Given the description of an element on the screen output the (x, y) to click on. 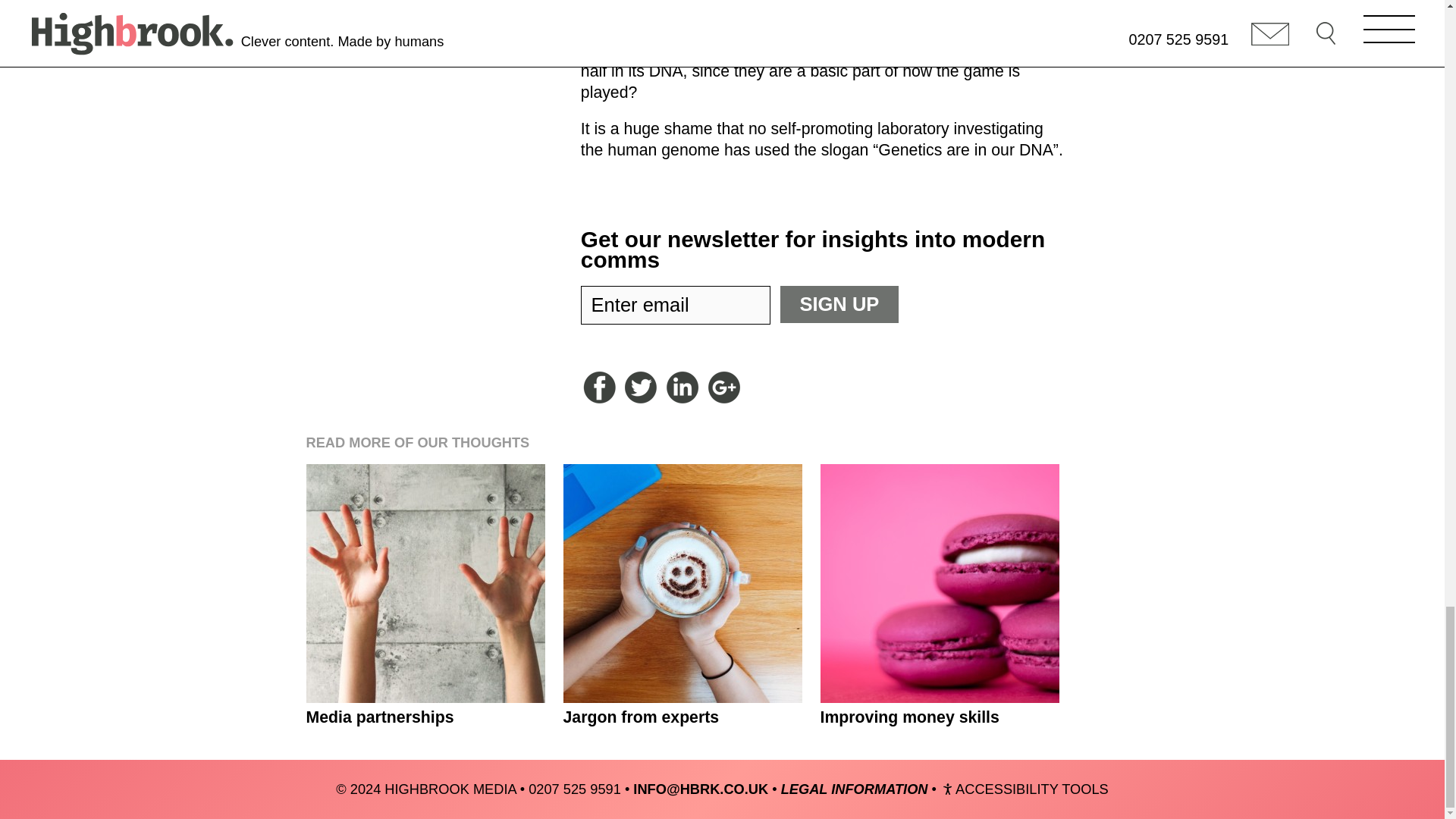
Jargon from experts (682, 583)
ACCESSIBILITY TOOLS (1024, 789)
Email Highbrook Media (700, 788)
Legal information (854, 788)
Improving money skills (940, 583)
Media partnerships (424, 583)
READ MORE OF OUR THOUGHTS (417, 442)
Media partnerships (424, 583)
sign Up (839, 303)
Choose your viewing style (1024, 789)
